Given the description of an element on the screen output the (x, y) to click on. 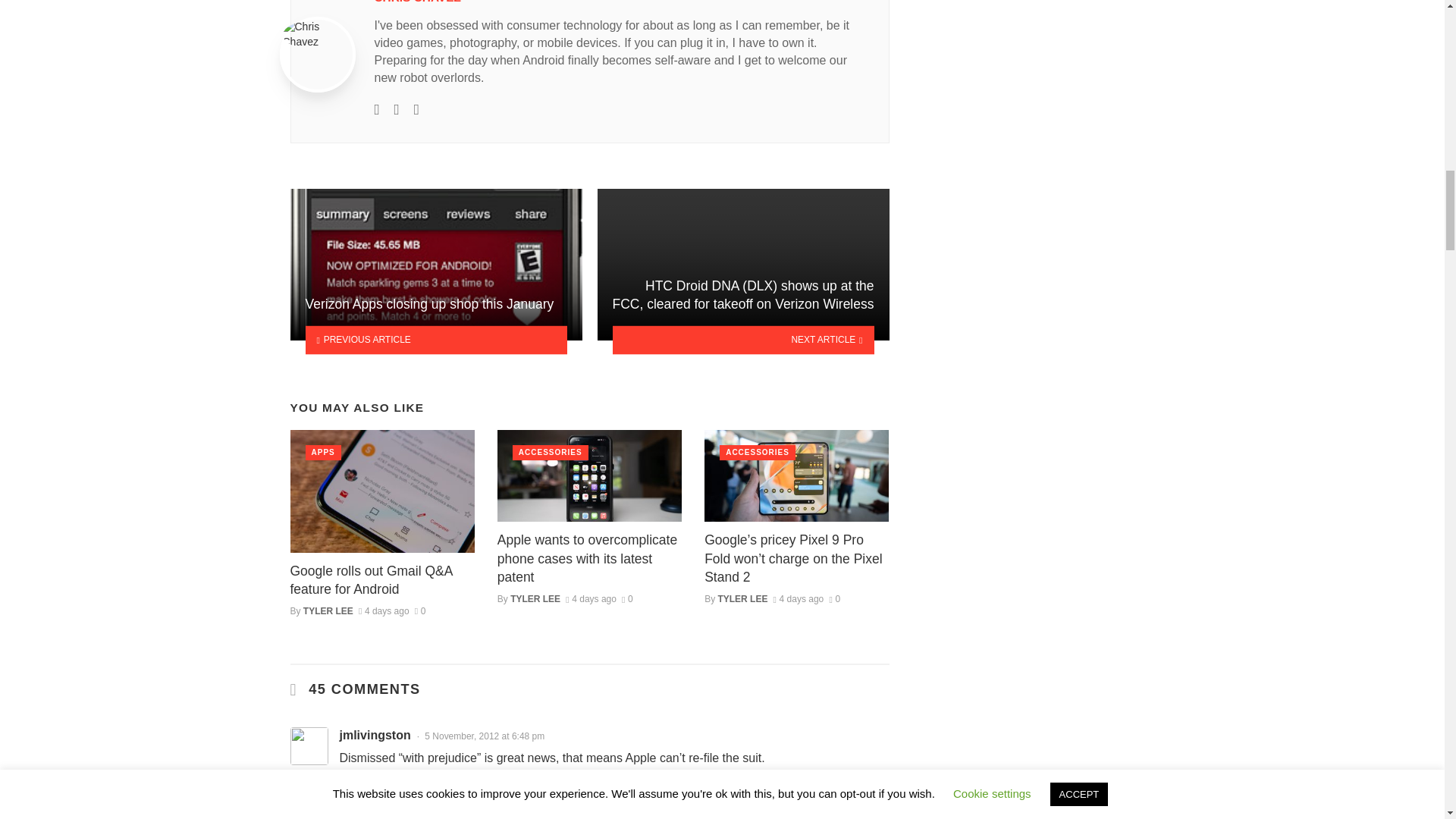
0 Comments (834, 598)
0 Comments (627, 598)
0 Comments (420, 611)
August 30, 2024 at 6:43 am (383, 611)
August 30, 2024 at 5:27 am (798, 598)
August 30, 2024 at 5:34 am (590, 598)
Posts by Chris Chavez (417, 2)
